Given the description of an element on the screen output the (x, y) to click on. 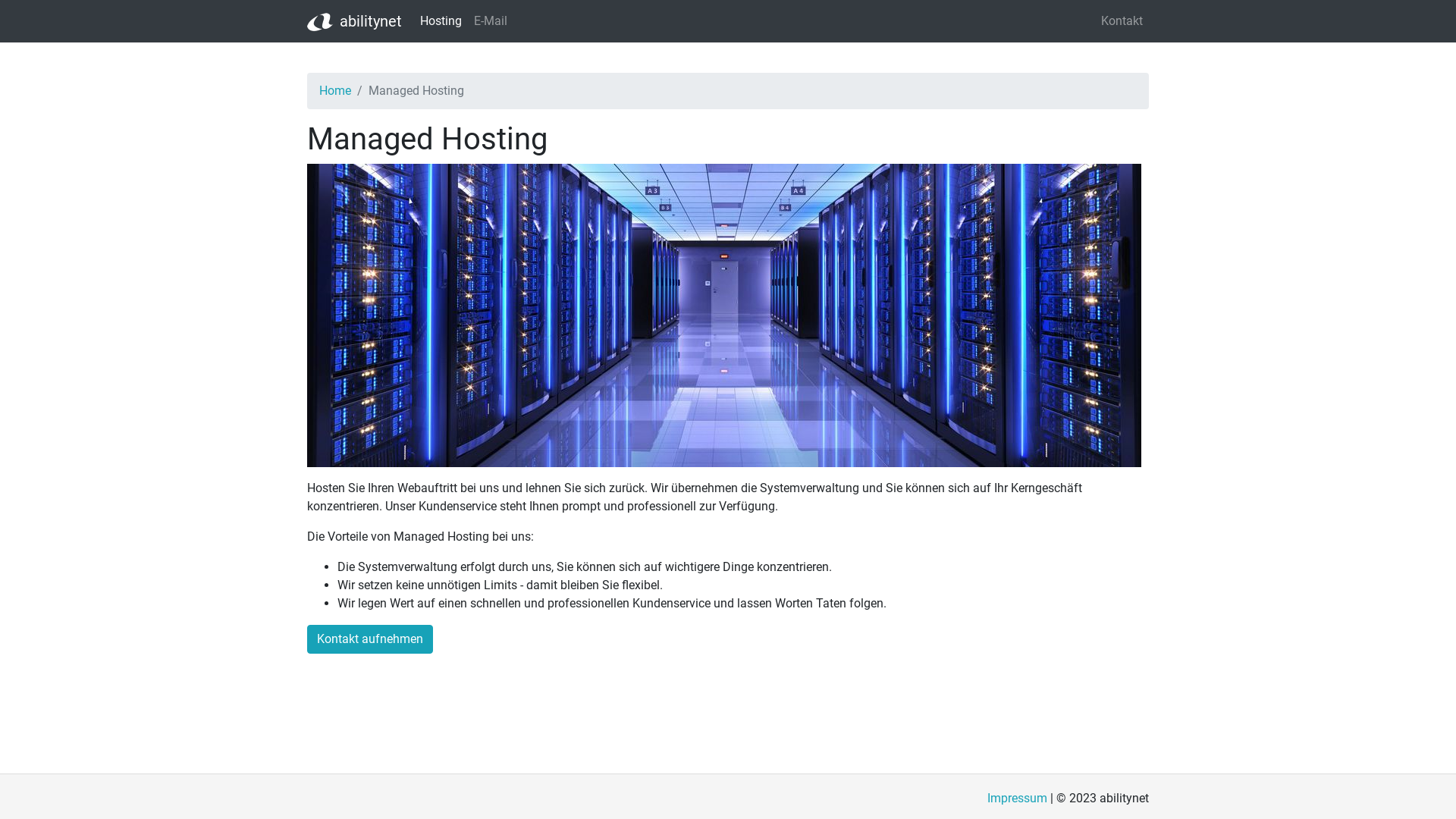
Impressum Element type: text (1017, 797)
abilitynet Element type: text (354, 21)
Kontakt Element type: text (1121, 21)
E-Mail Element type: text (490, 21)
Hosting Element type: text (440, 21)
Home Element type: text (335, 90)
Kontakt aufnehmen Element type: text (370, 638)
